Given the description of an element on the screen output the (x, y) to click on. 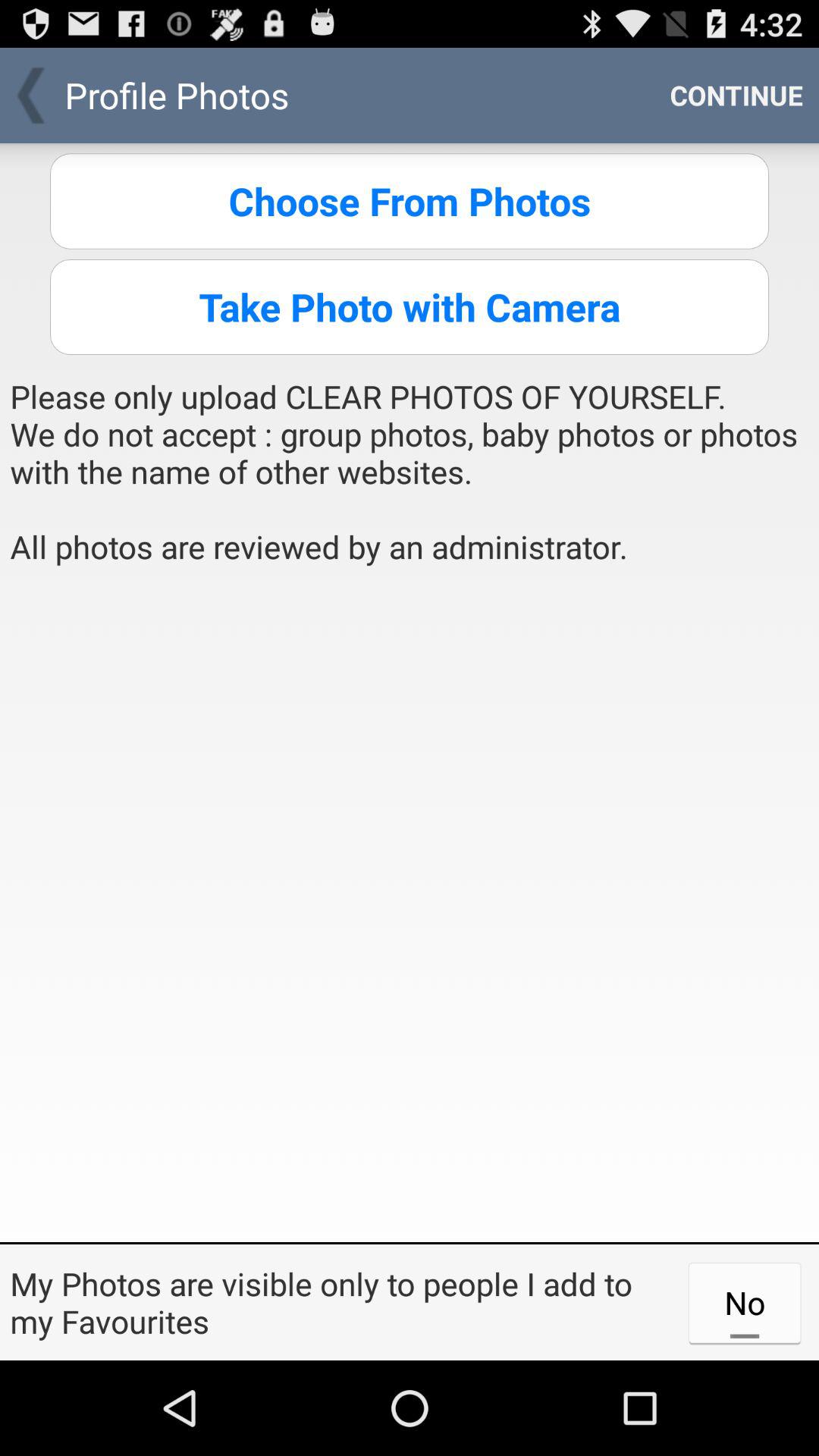
tap continue item (736, 95)
